Given the description of an element on the screen output the (x, y) to click on. 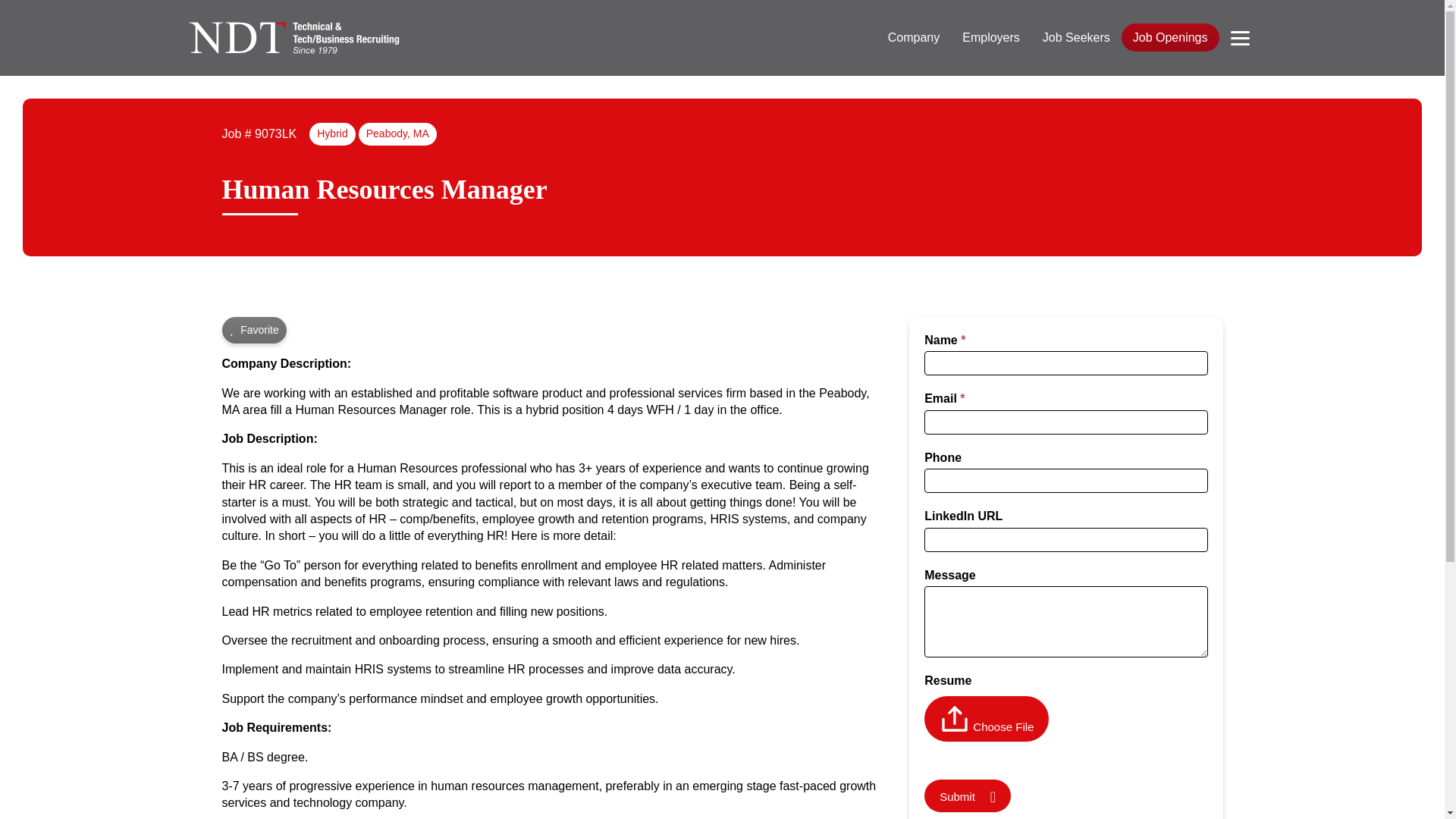
Submit (967, 795)
Company (913, 37)
Favorite (253, 329)
Choose File (1002, 726)
Job Seekers (1075, 37)
Job Openings (1170, 37)
Employers (990, 37)
